Given the description of an element on the screen output the (x, y) to click on. 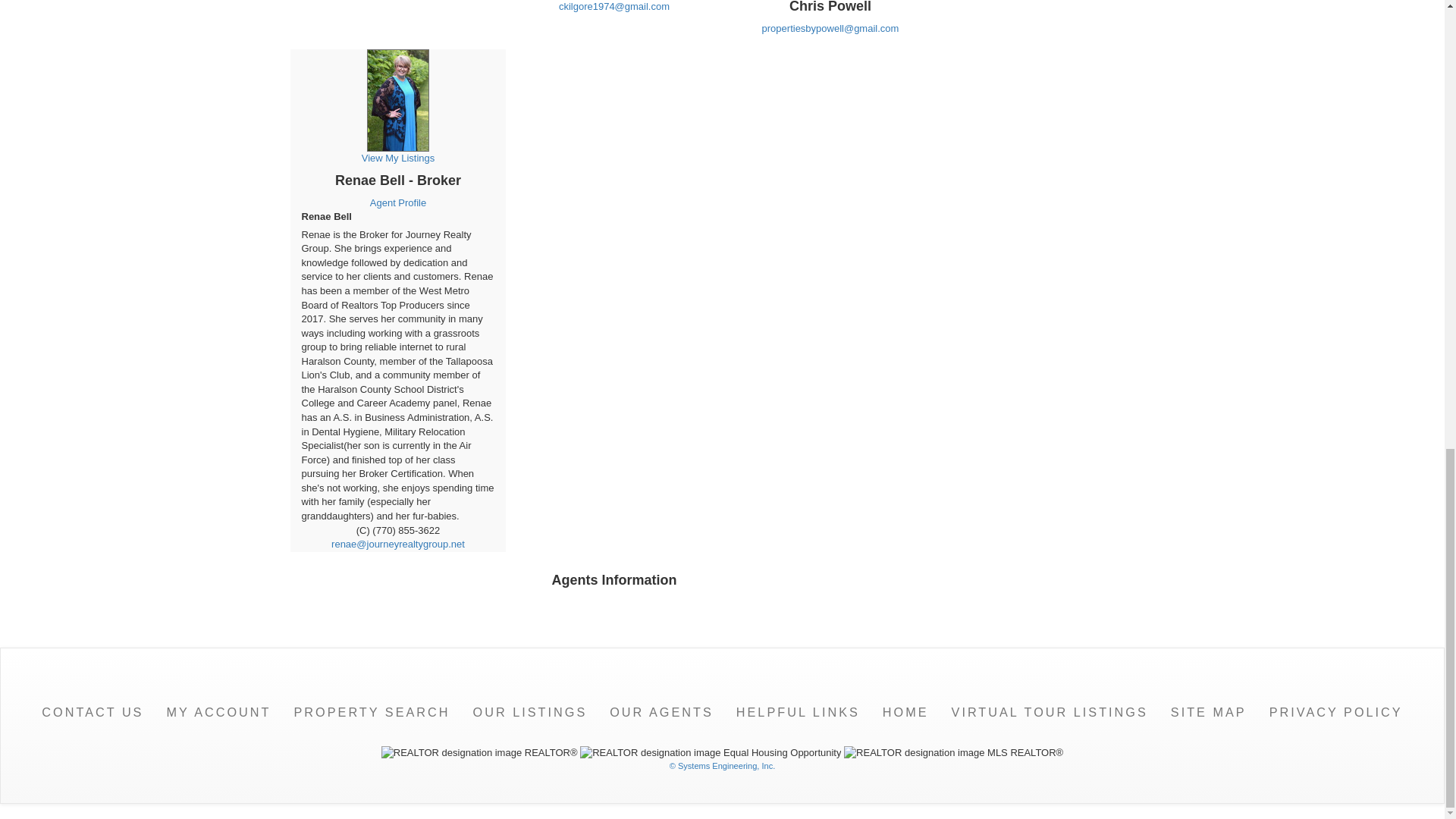
VIRTUAL TOUR LISTINGS (1049, 712)
PRIVACY POLICY (1335, 712)
OUR AGENTS (661, 712)
MY ACCOUNT (218, 712)
HOME (905, 712)
PROPERTY SEARCH (371, 712)
CONTACT US (92, 712)
View My Listings (398, 130)
HELPFUL LINKS (797, 712)
SITE MAP (1207, 712)
OUR LISTINGS (529, 712)
Agent Profile (397, 202)
